Given the description of an element on the screen output the (x, y) to click on. 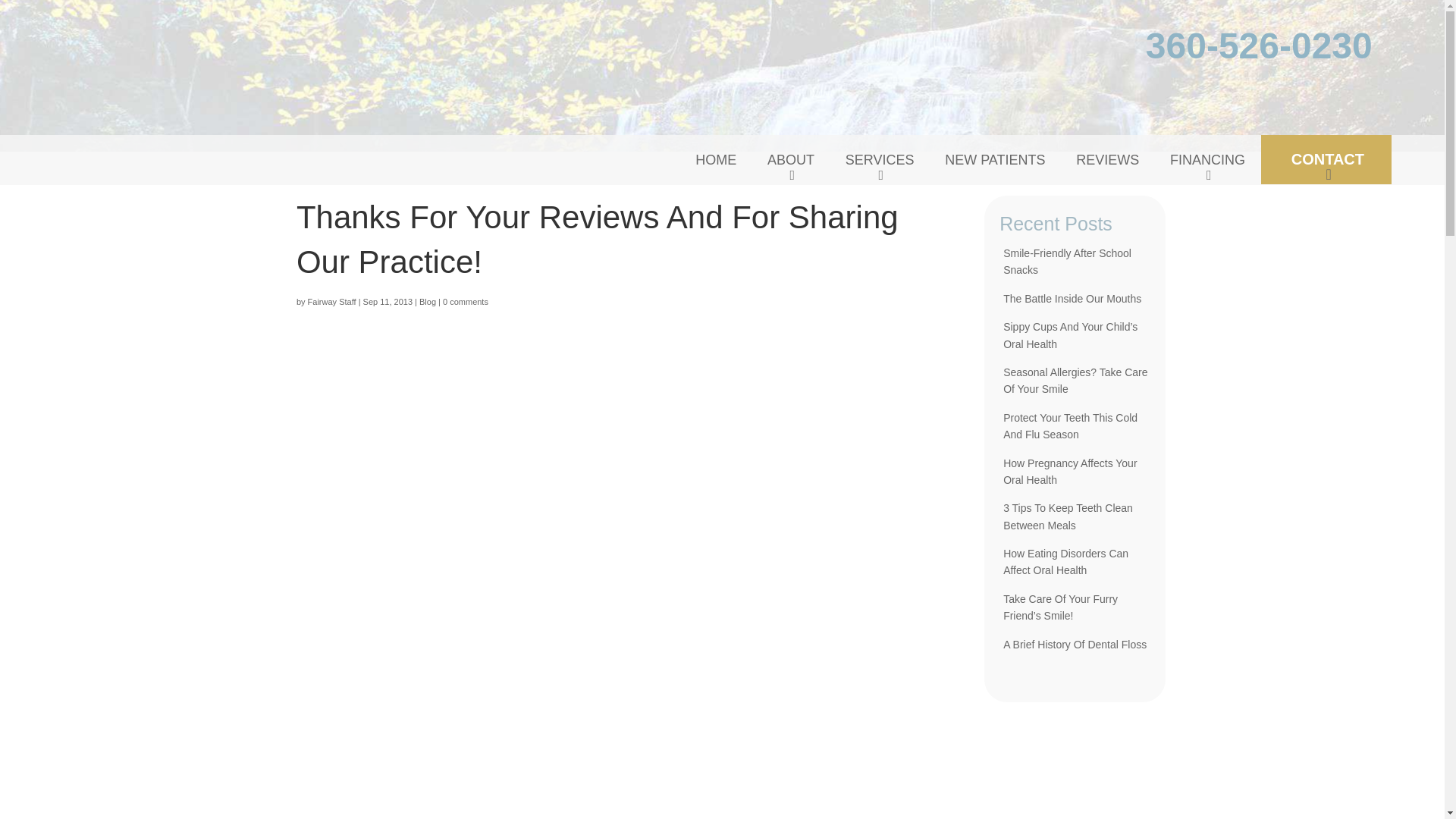
A Brief History Of Dental Floss (1075, 644)
3 Tips To Keep Teeth Clean Between Meals (1067, 516)
360-526-0230 (1259, 53)
Seasonal Allergies? Take Care Of Your Smile (1075, 380)
REVIEWS (1107, 160)
0 comments (464, 301)
Posts by Fairway Staff (331, 301)
FINANCING (1207, 160)
Protect Your Teeth This Cold And Flu Season (1070, 425)
ABOUT (790, 160)
